Given the description of an element on the screen output the (x, y) to click on. 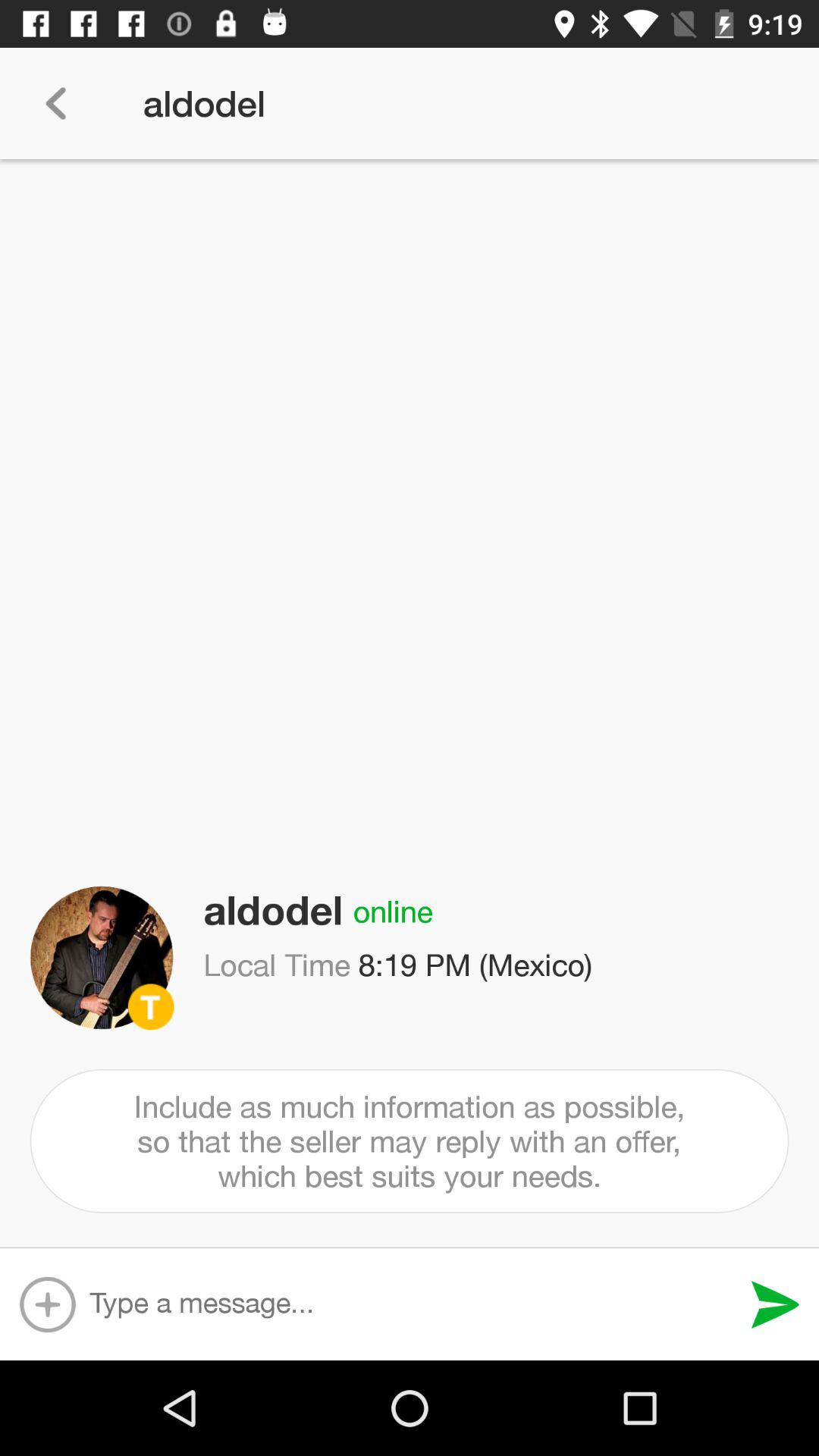
type a message (413, 1304)
